Given the description of an element on the screen output the (x, y) to click on. 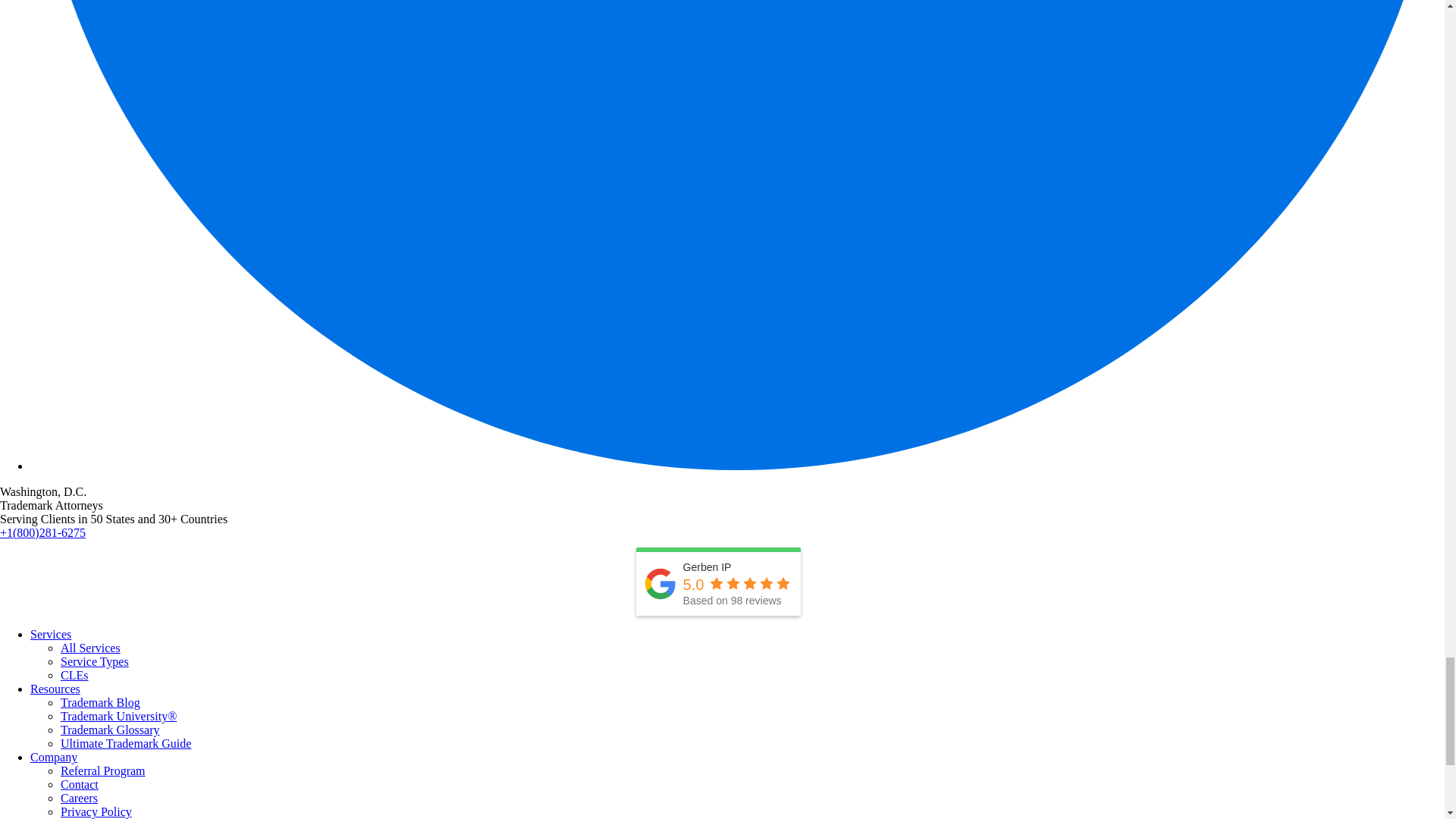
All Services (90, 647)
Trademark Glossary (110, 729)
Resources (55, 688)
Trademark Blog (100, 702)
Company (53, 757)
Service Types (95, 661)
CLEs (74, 675)
Services (50, 634)
Ultimate Trademark Guide (125, 743)
